Given the description of an element on the screen output the (x, y) to click on. 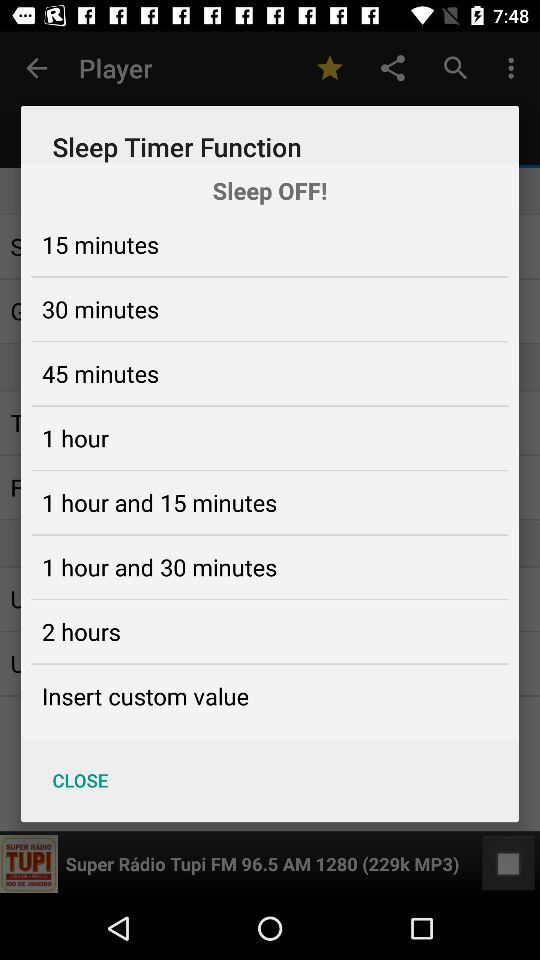
turn on insert custom value icon (145, 696)
